Given the description of an element on the screen output the (x, y) to click on. 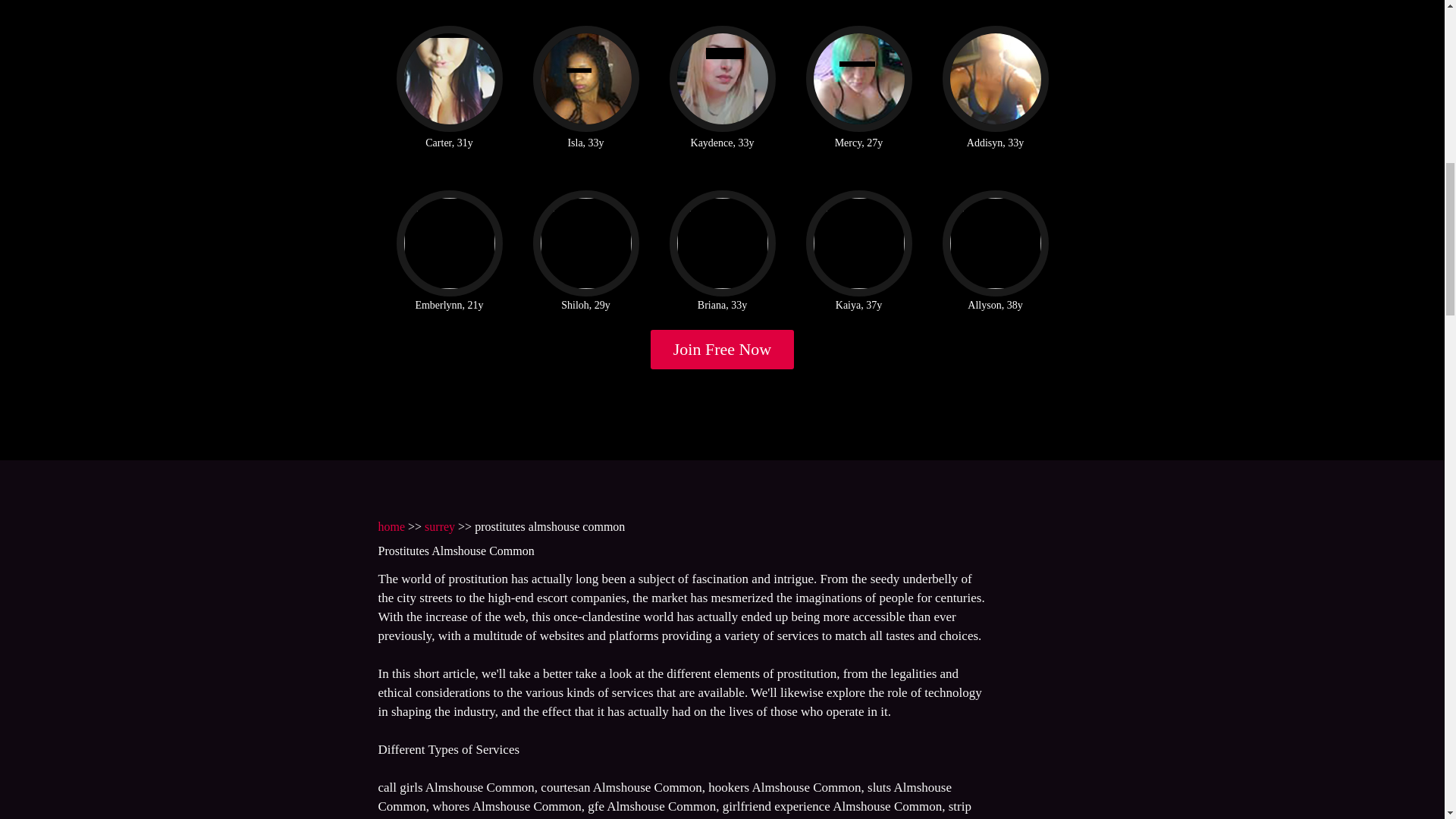
home (390, 526)
Join Free Now (722, 349)
Join (722, 349)
surrey (439, 526)
